Given the description of an element on the screen output the (x, y) to click on. 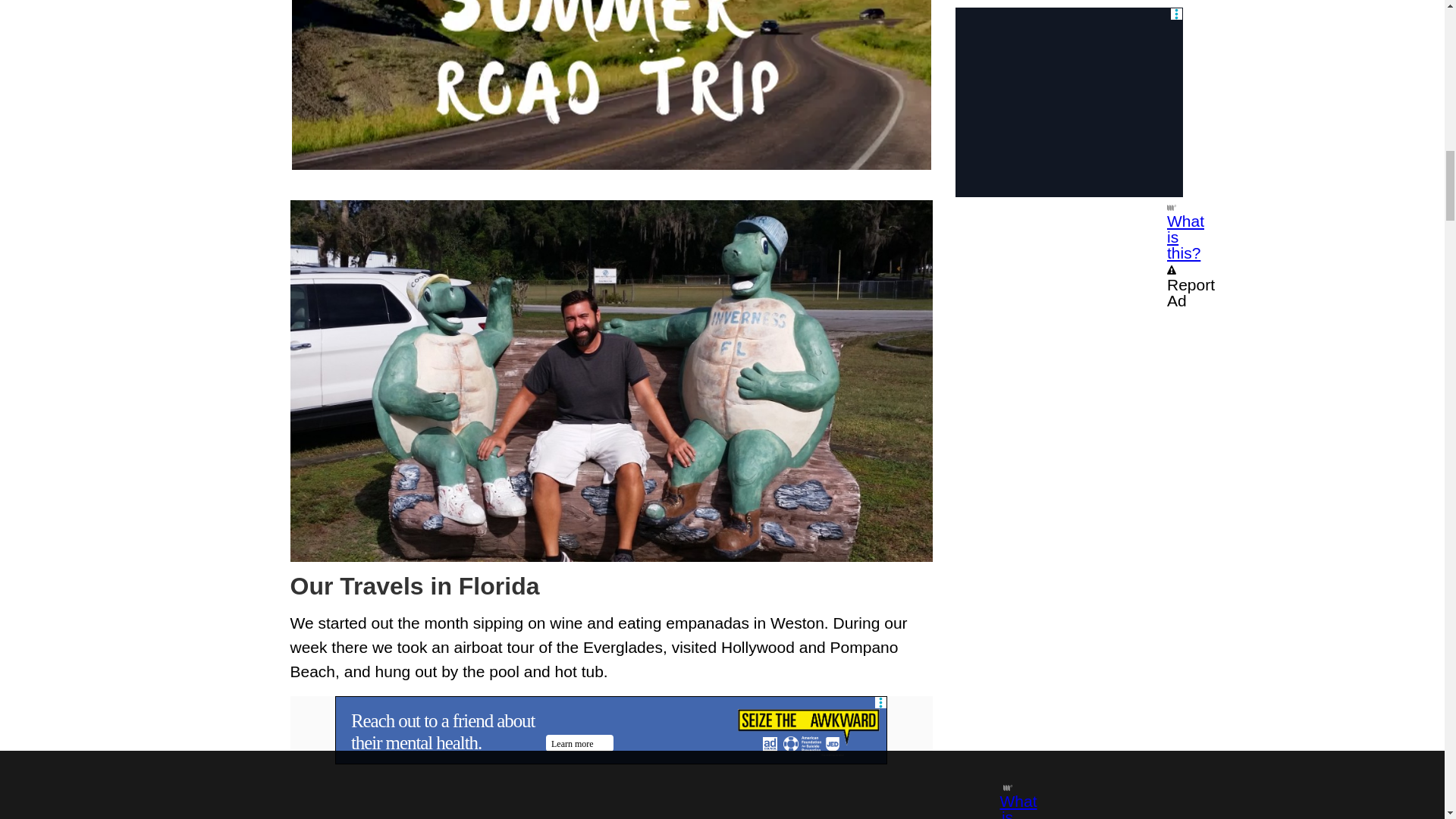
3rd party ad content (610, 730)
